Given the description of an element on the screen output the (x, y) to click on. 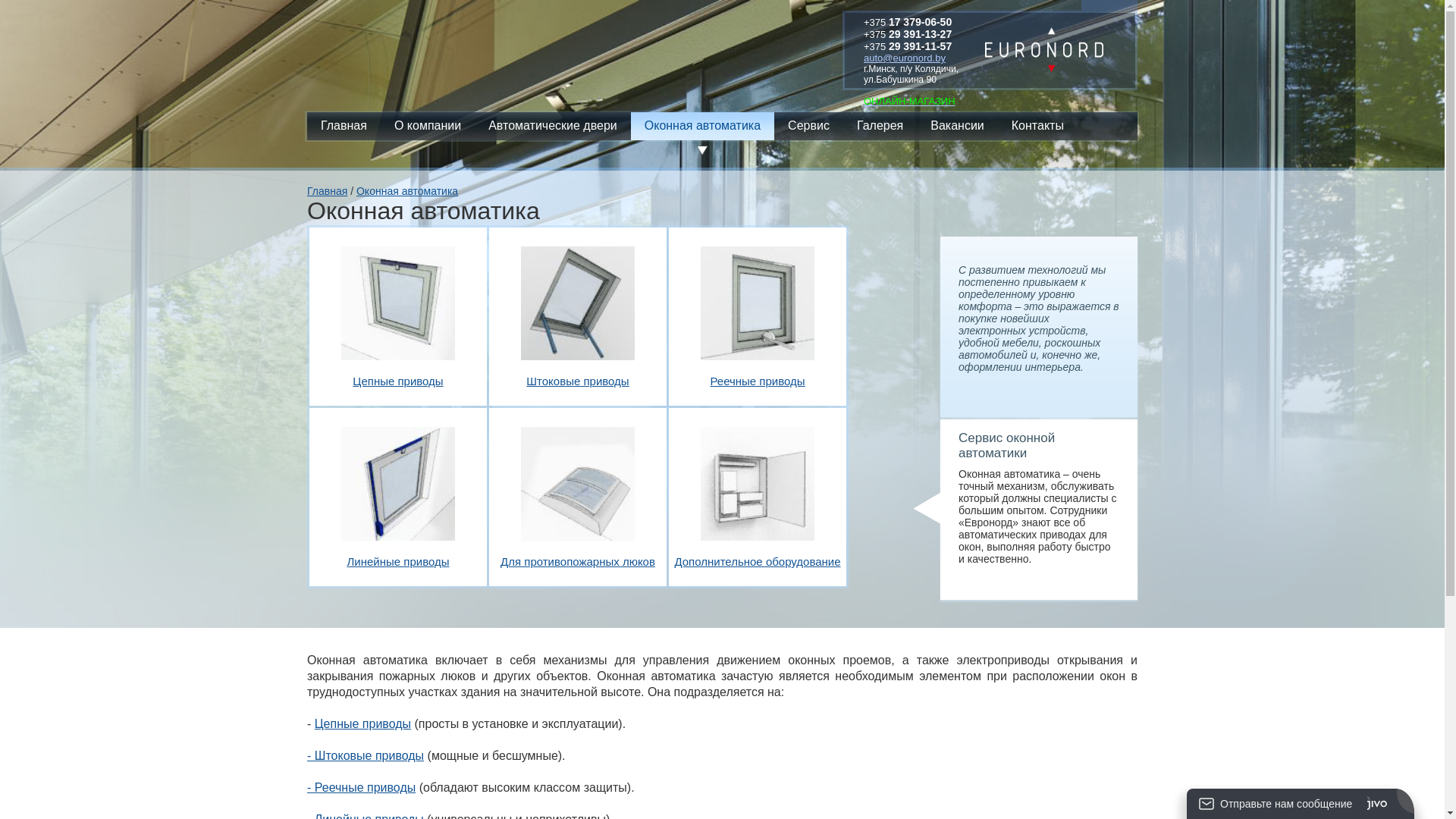
auto@euronord.by Element type: text (904, 57)
